Given the description of an element on the screen output the (x, y) to click on. 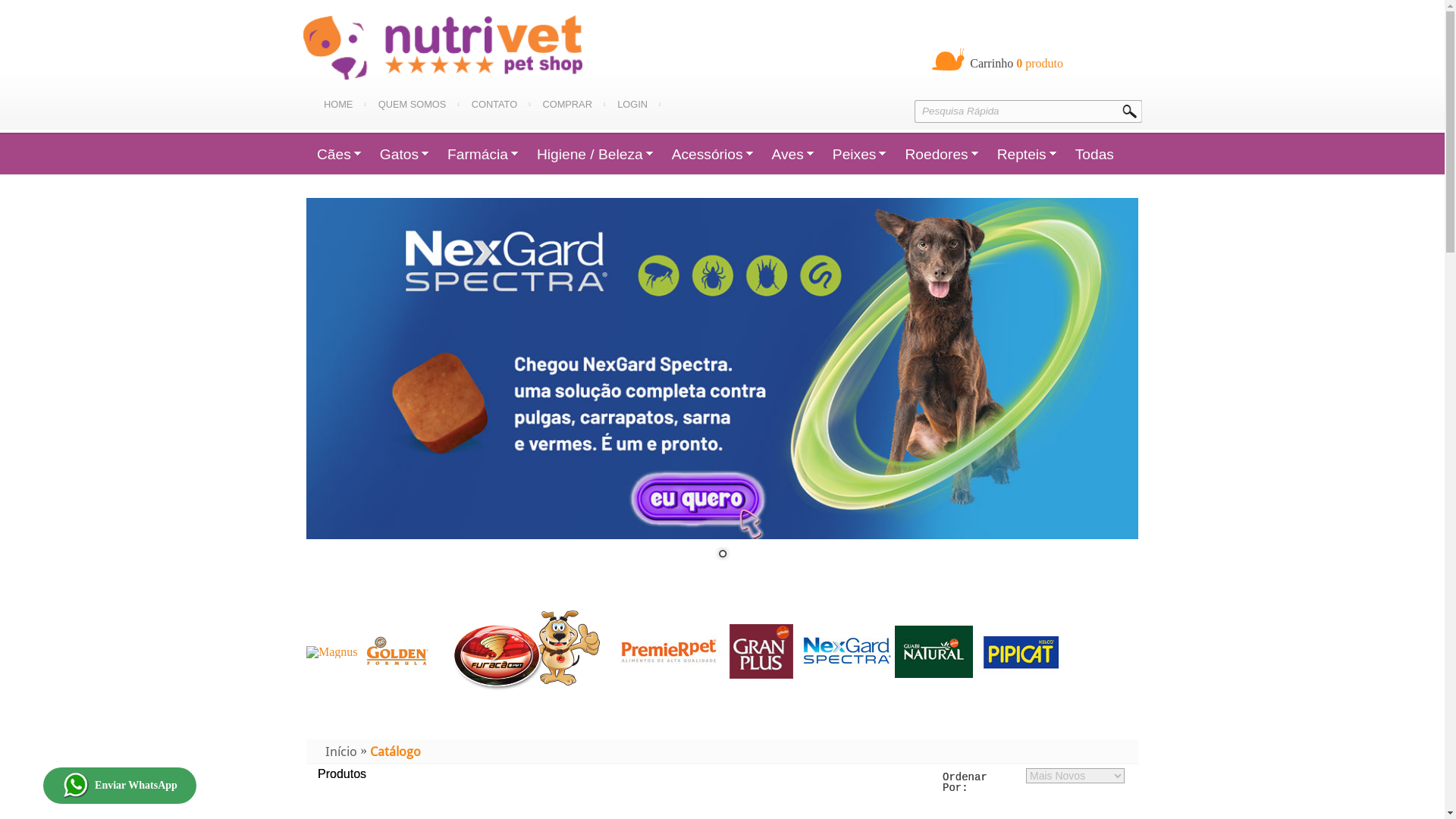
                    Carrinho 
                    0 
produto Element type: text (1016, 63)
pipicat Element type: hover (1015, 651)
Fab Furacao Element type: hover (526, 651)
QUEM SOMOS Element type: text (418, 103)
Todas Element type: text (1094, 154)
LOGIN Element type: text (638, 103)
fab Guabi Element type: hover (933, 651)
COMPRAR Element type: text (573, 103)
nex Element type: hover (846, 651)
Enviar WhatsApp Element type: text (119, 785)
Premier Element type: hover (669, 651)
1 Element type: text (722, 554)
CONTATO Element type: text (500, 103)
granpluslogo Element type: hover (761, 651)
HOME Element type: text (345, 103)
Magnus Element type: hover (331, 652)
